Given the description of an element on the screen output the (x, y) to click on. 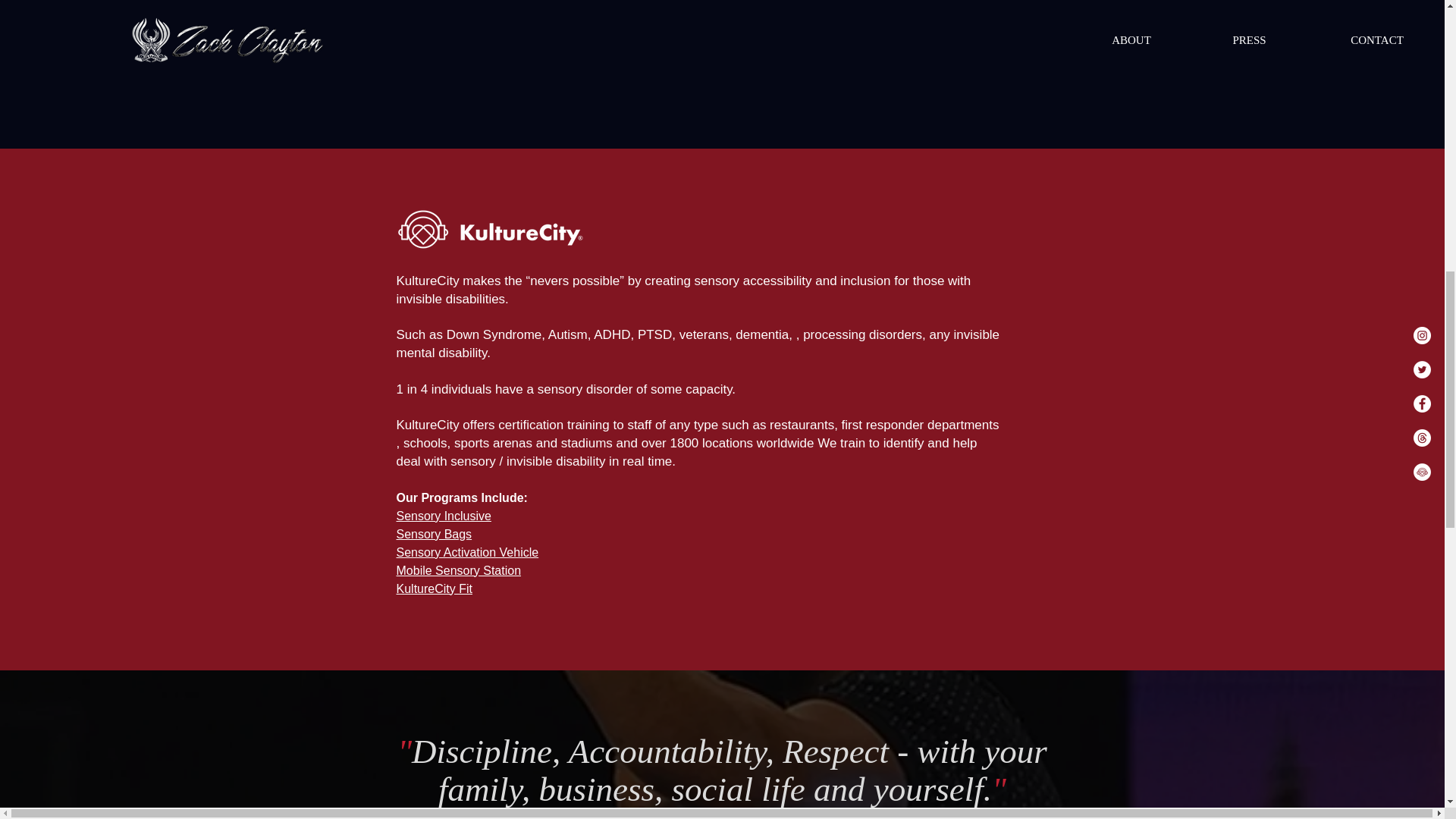
Sensory Activation Vehicle (467, 552)
Sensory Bags (433, 533)
Mobile Sensory Station (458, 570)
Sensory Inclusive (443, 515)
KultureCity Fit (433, 588)
